Given the description of an element on the screen output the (x, y) to click on. 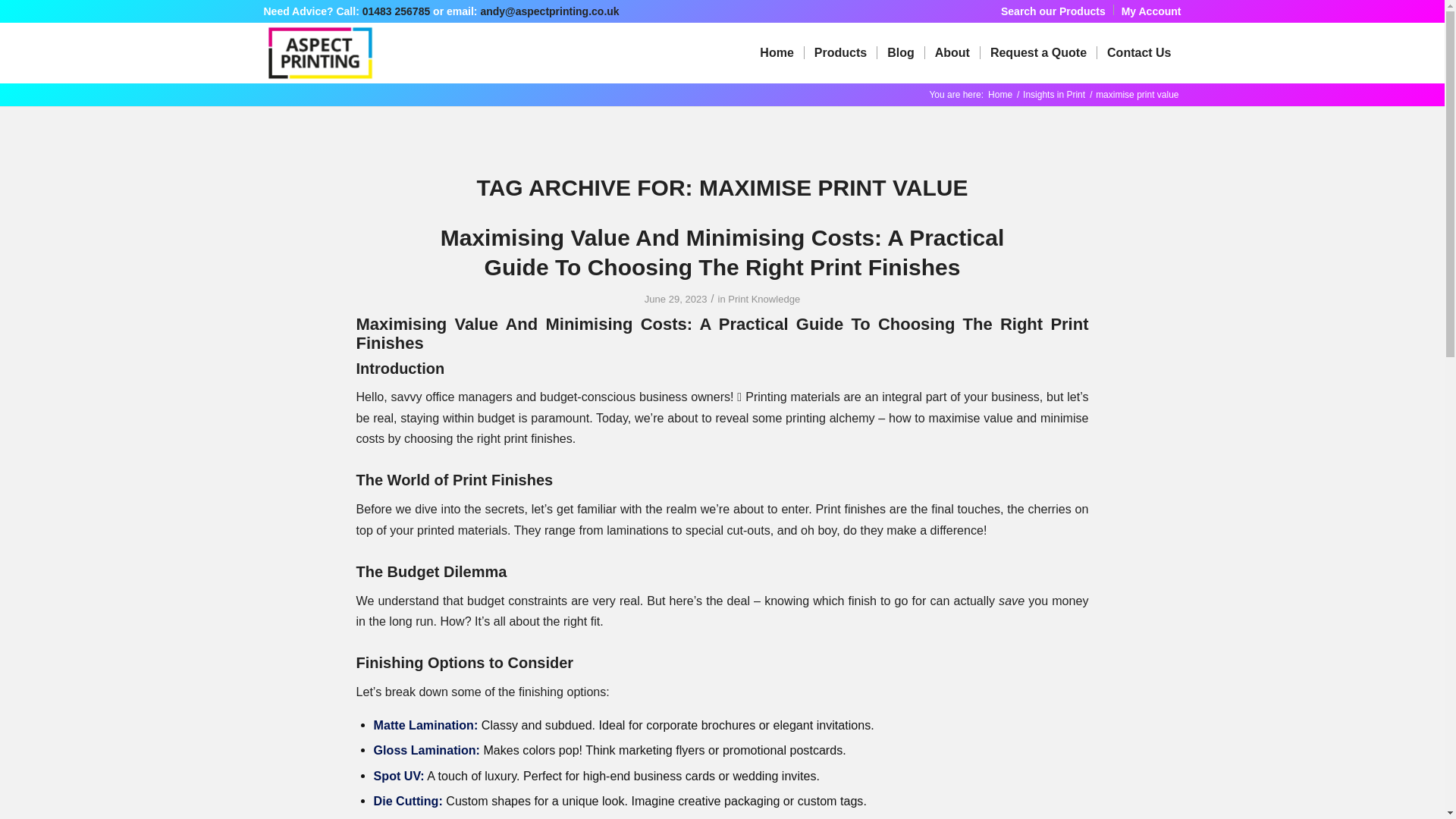
Search our print products (1053, 11)
Products (839, 52)
Aspect Printing, what we stand for (951, 52)
Aspect Printing (999, 94)
Search our Products (1053, 11)
Insights in Print (1053, 94)
My Account (1150, 11)
Our Address and associated info (1138, 52)
Send us your print project idea (1037, 52)
All our print products (839, 52)
01483 256785 (396, 10)
